Given the description of an element on the screen output the (x, y) to click on. 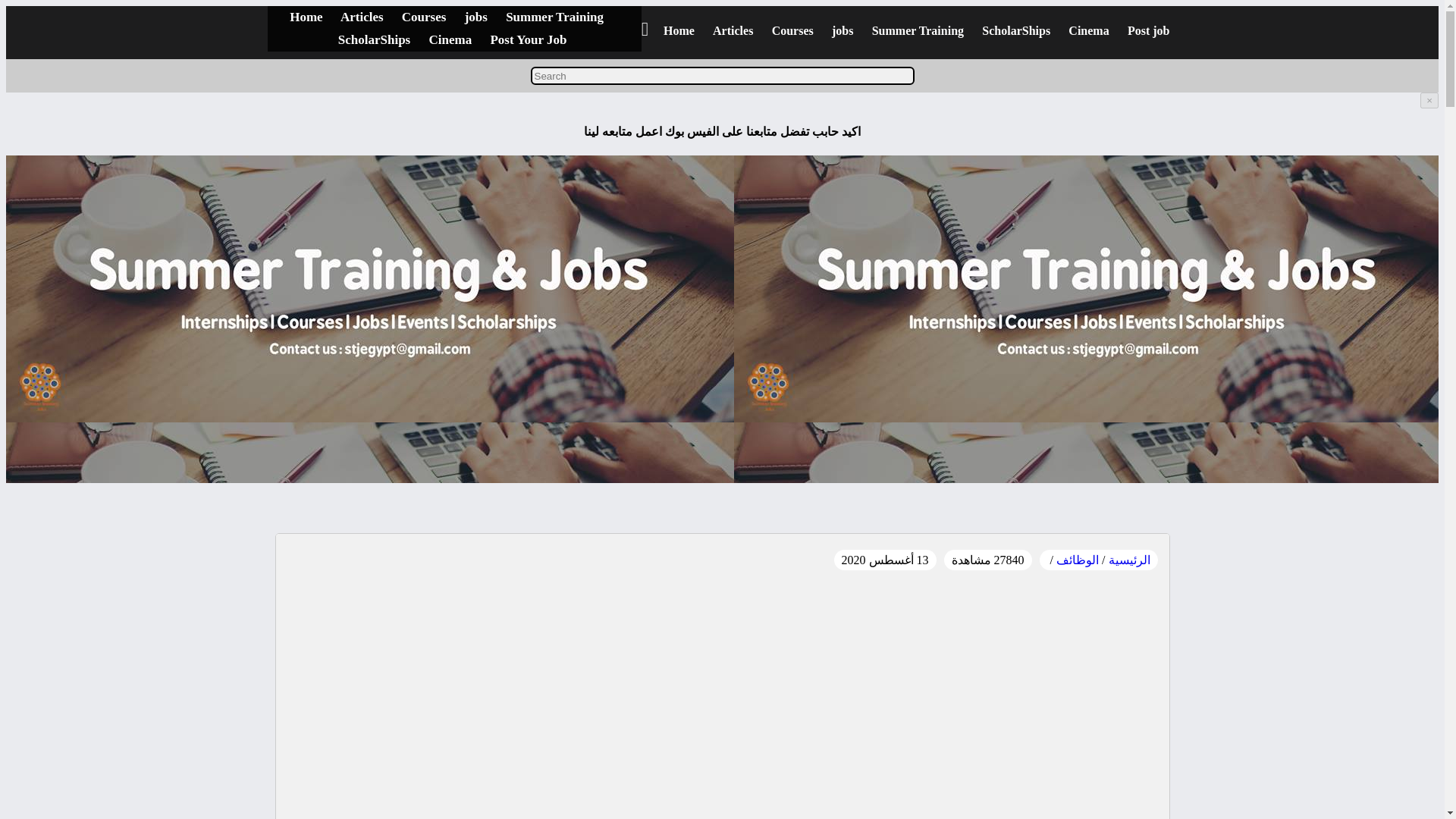
Summer Training (554, 16)
Courses (423, 16)
Post Your Job (527, 39)
Cinema (1088, 30)
Summer Training (917, 30)
jobs (475, 16)
ScholarShips (373, 39)
Post job (1148, 30)
Courses (792, 30)
Home (305, 16)
Articles (732, 30)
Home (678, 30)
jobs (842, 30)
ScholarShips (1015, 30)
Articles (362, 16)
